Given the description of an element on the screen output the (x, y) to click on. 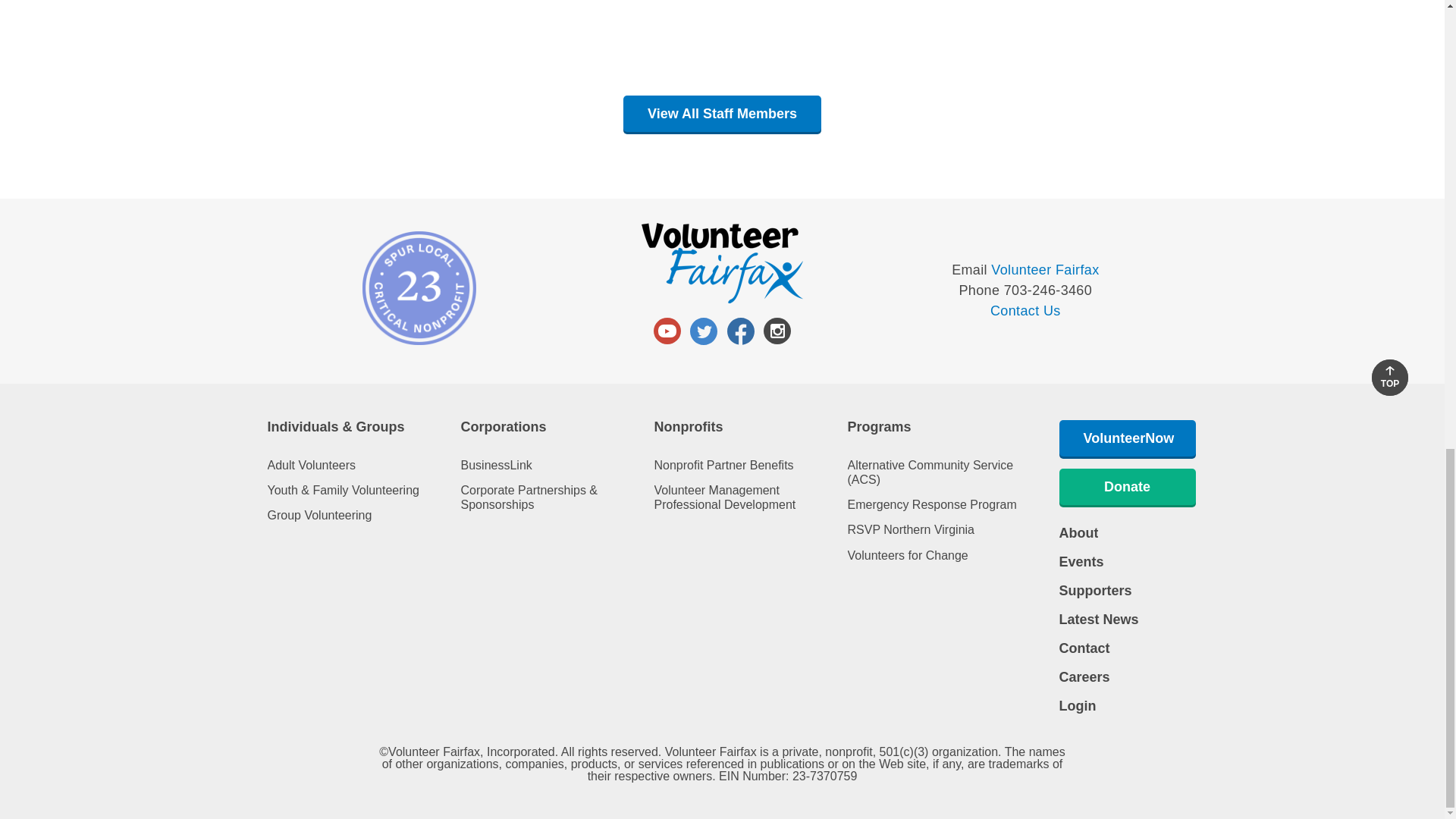
facebook (740, 330)
twitter (703, 330)
arrow (1390, 370)
youtube (667, 330)
instagram (776, 330)
